Given the description of an element on the screen output the (x, y) to click on. 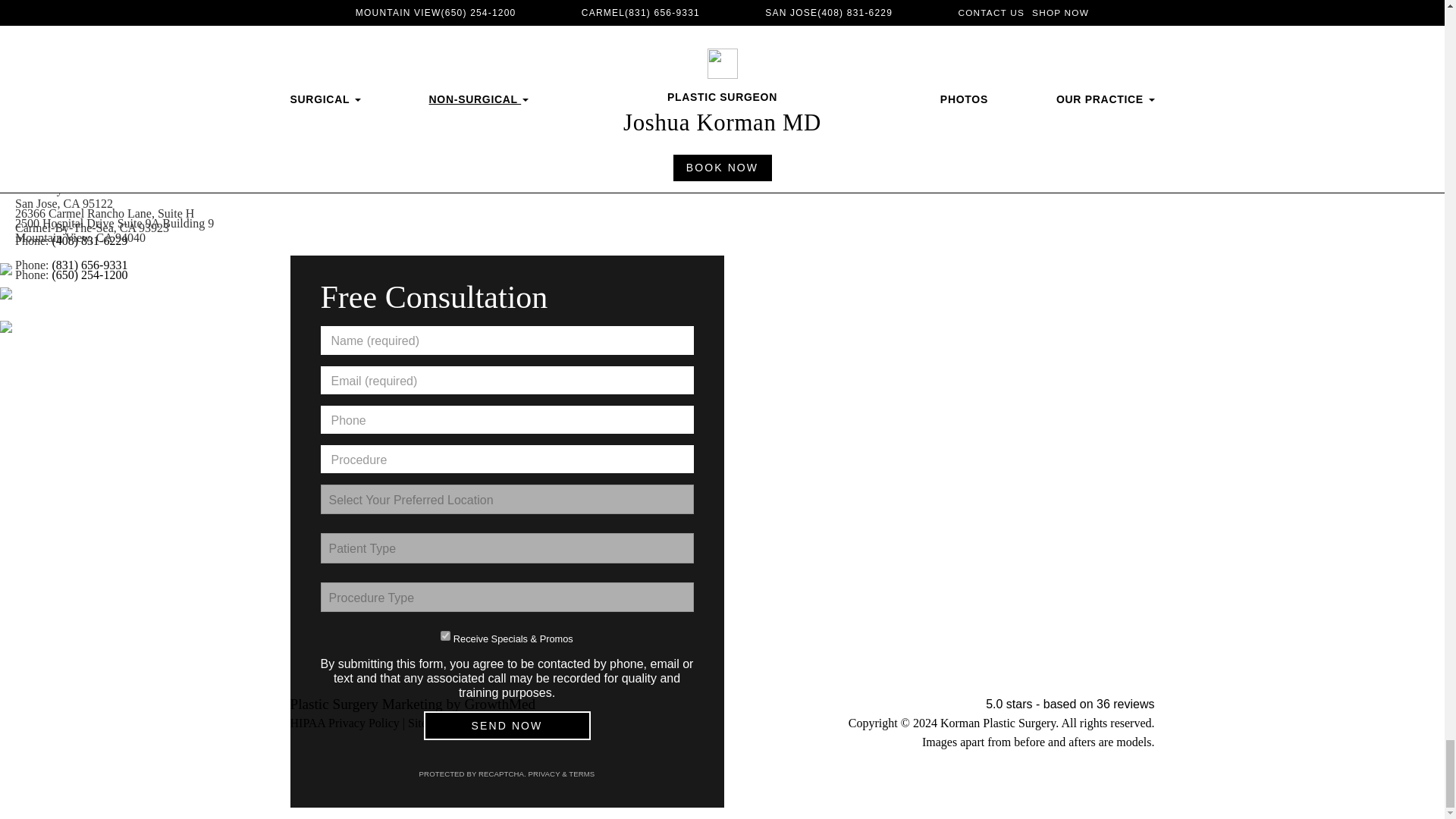
Send Now (506, 725)
